Given the description of an element on the screen output the (x, y) to click on. 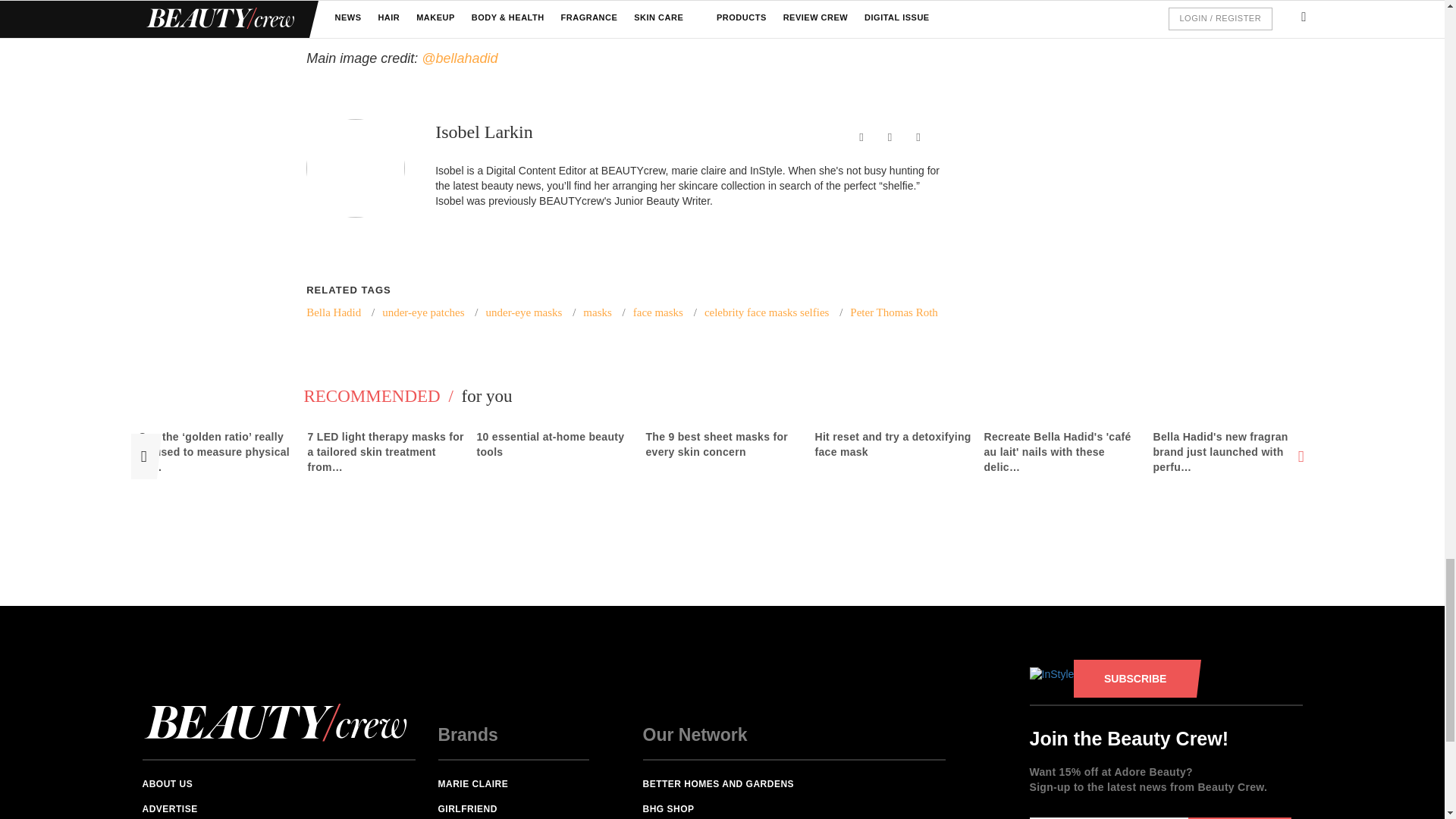
BEAUTYcrew (610, 13)
Instagram (861, 136)
Website (917, 136)
Email (889, 136)
Instagram (459, 58)
